Given the description of an element on the screen output the (x, y) to click on. 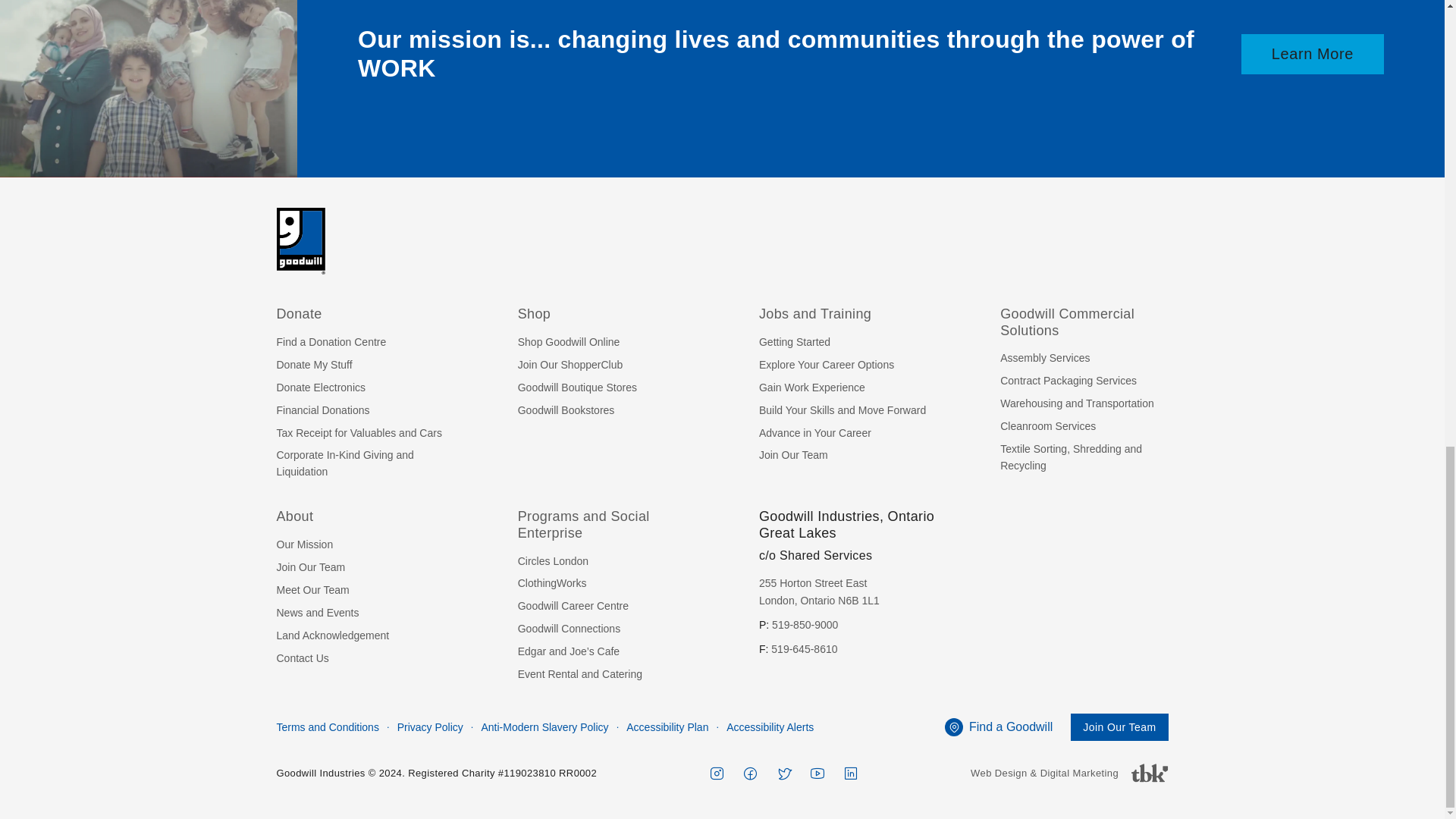
Home (300, 240)
